Given the description of an element on the screen output the (x, y) to click on. 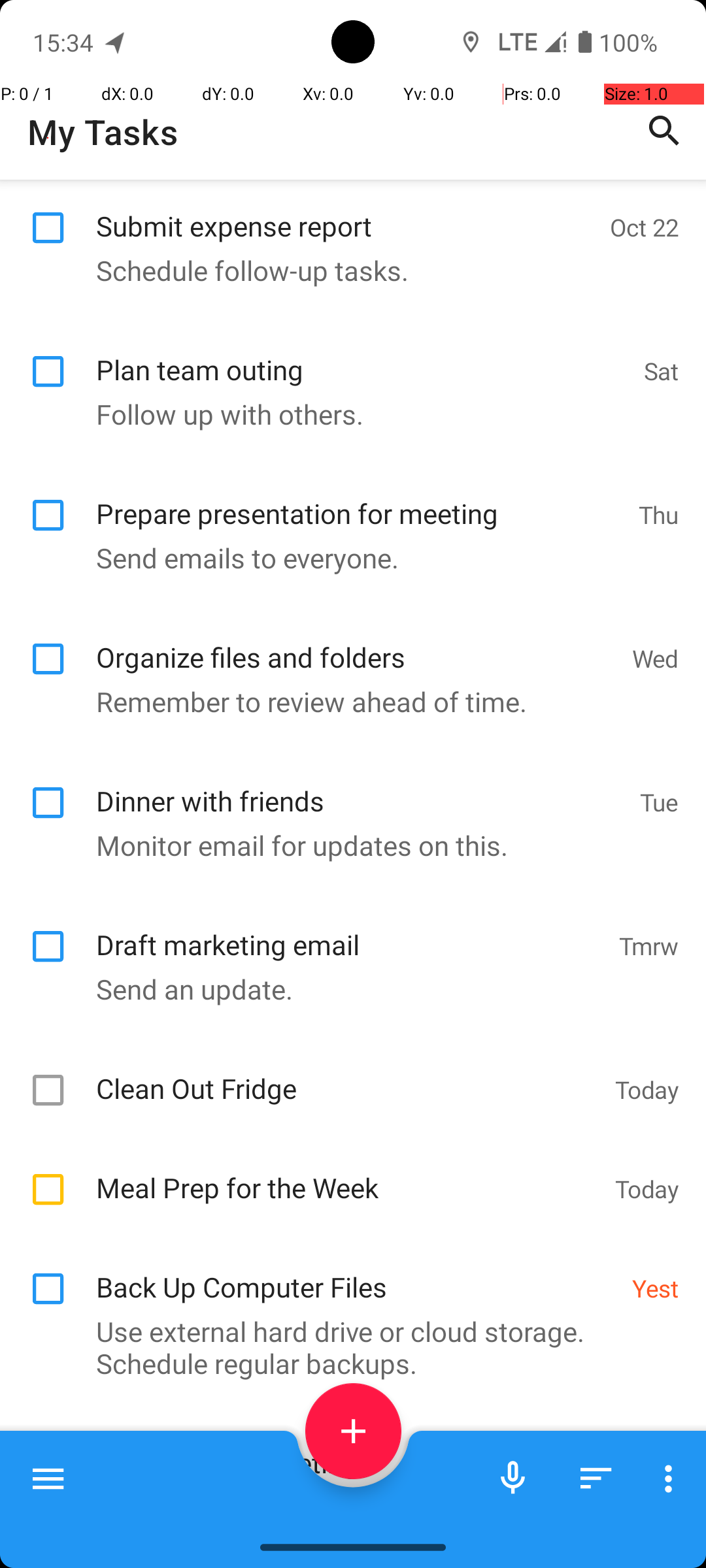
Submit expense report Element type: android.widget.TextView (346, 211)
Schedule follow-up tasks. Element type: android.widget.TextView (346, 269)
Oct 22 Element type: android.widget.TextView (644, 226)
Plan team outing Element type: android.widget.TextView (363, 355)
Follow up with others. Element type: android.widget.TextView (346, 413)
Prepare presentation for meeting Element type: android.widget.TextView (360, 499)
Send emails to everyone. Element type: android.widget.TextView (346, 557)
Organize files and folders Element type: android.widget.TextView (357, 642)
Remember to review ahead of time. Element type: android.widget.TextView (346, 700)
Dinner with friends Element type: android.widget.TextView (361, 786)
Monitor email for updates on this. Element type: android.widget.TextView (346, 844)
Draft marketing email Element type: android.widget.TextView (350, 930)
Send an update. Element type: android.widget.TextView (346, 988)
Use external hard drive or cloud storage. Schedule regular backups. Element type: android.widget.TextView (346, 1346)
Agenda includes project updates and brainstorming new initiatives. Element type: android.widget.TextView (346, 1507)
